Given the description of an element on the screen output the (x, y) to click on. 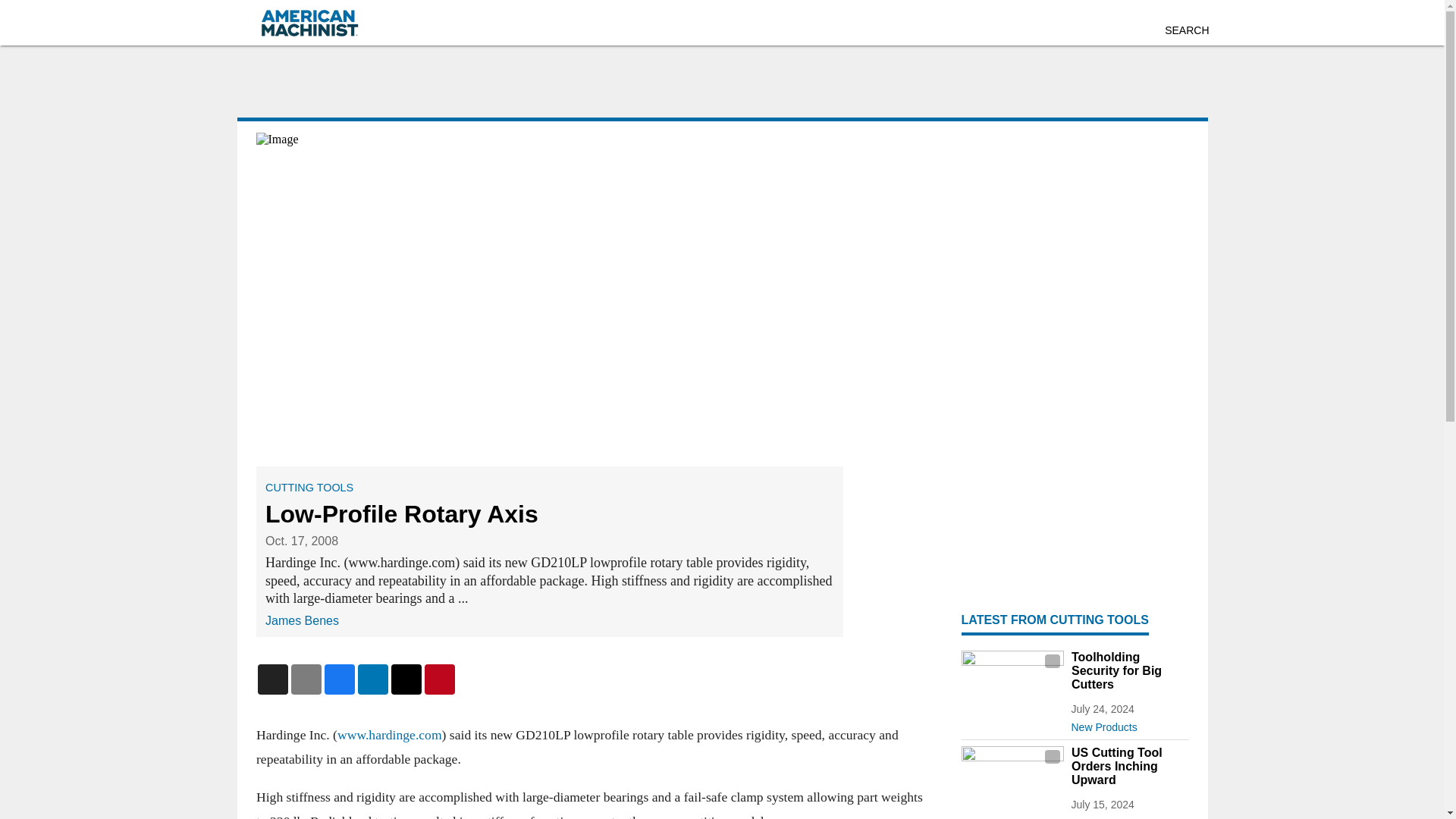
US Cutting Tool Orders Inching Upward (1129, 766)
www.hardinge.com (388, 734)
News (1129, 814)
SEARCH (1186, 30)
James Benes (301, 619)
New Products (1129, 723)
CUTTING TOOLS (308, 487)
Toolholding Security for Big Cutters (1129, 670)
